Given the description of an element on the screen output the (x, y) to click on. 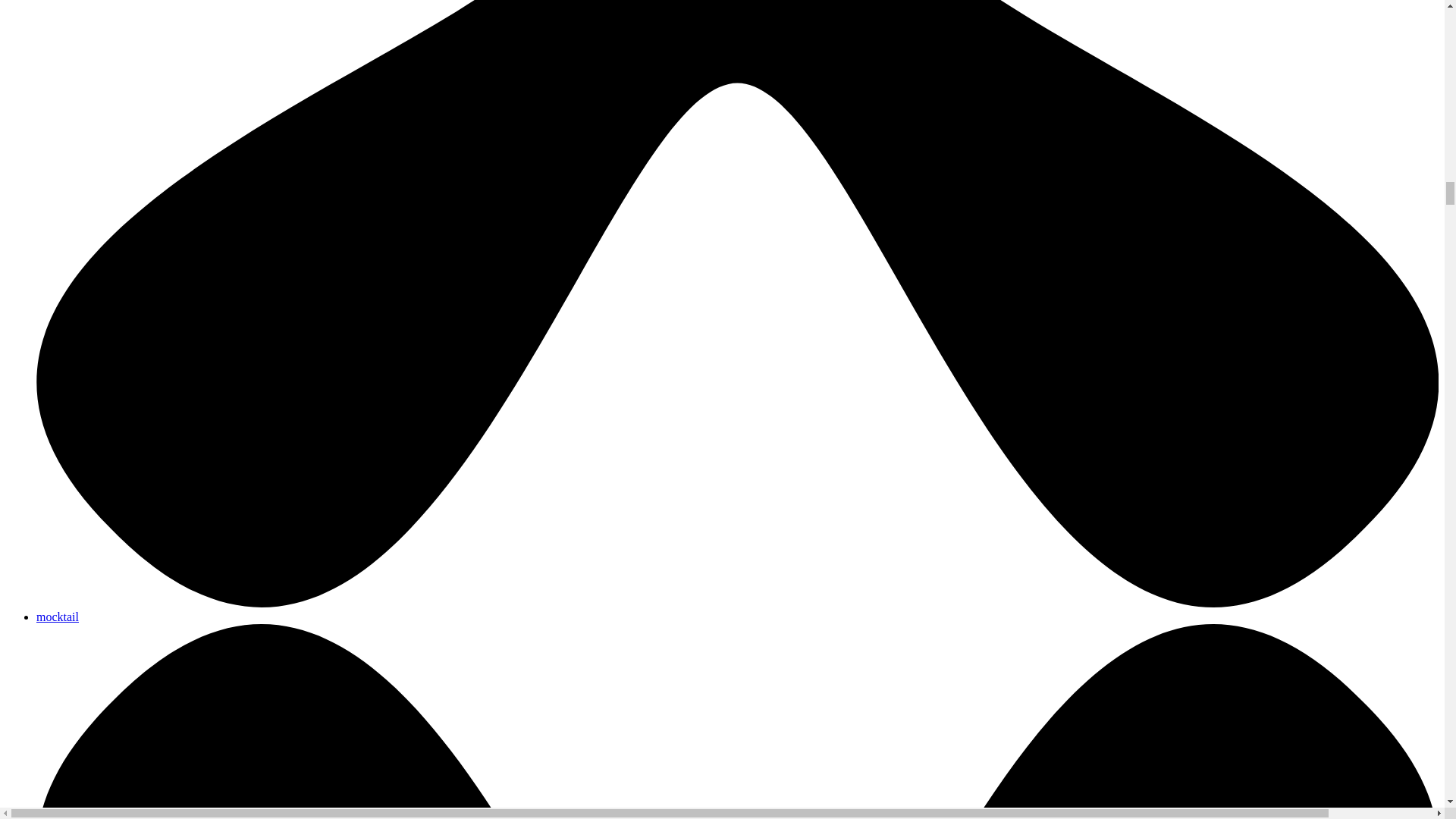
mocktail (57, 616)
